Given the description of an element on the screen output the (x, y) to click on. 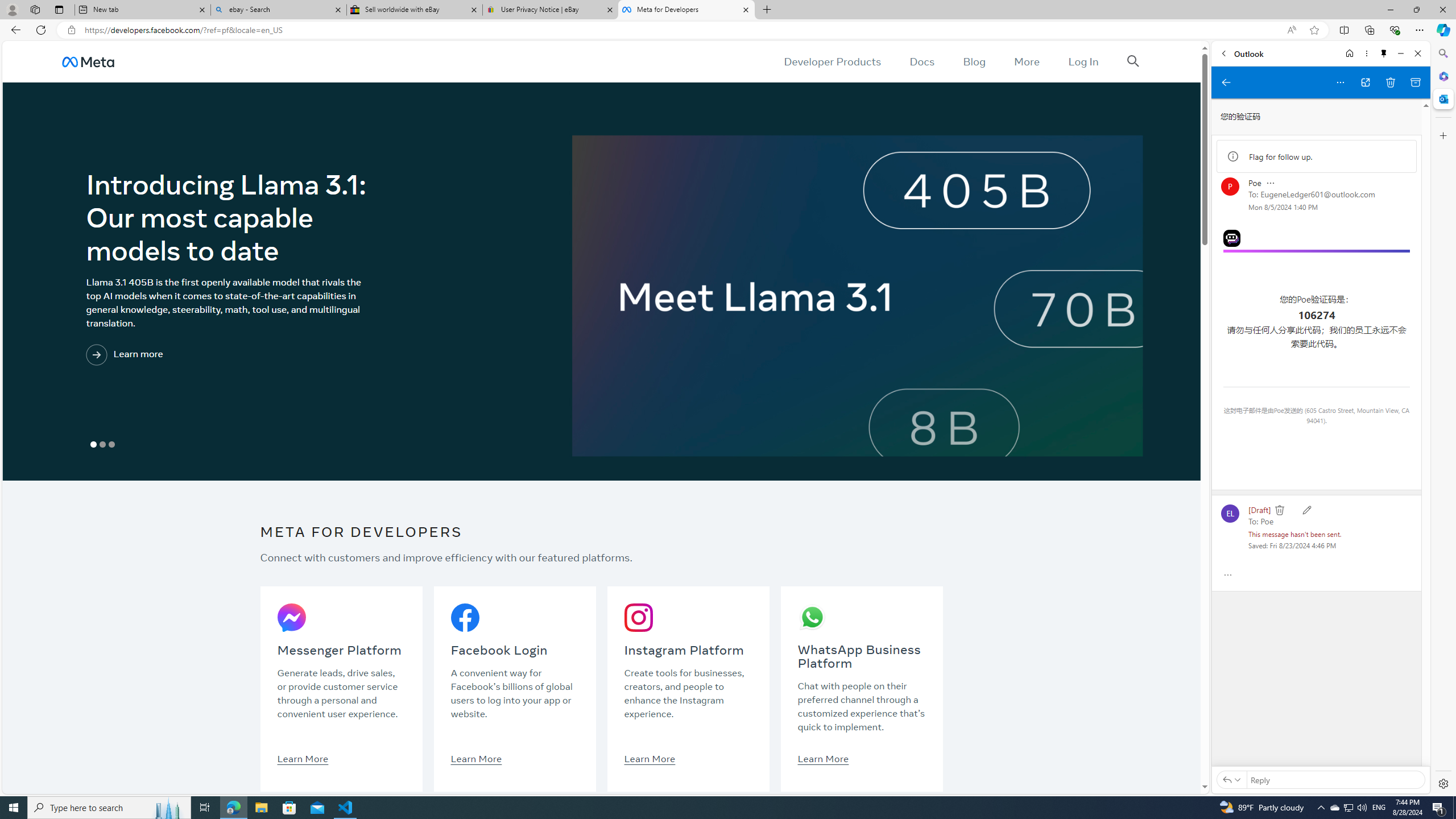
Sent by Poe. message expanded. double tap to collapse (1253, 182)
Edit (1306, 509)
Contact card for Eugene Ledger (1230, 512)
Log In (1083, 61)
Developer Products (832, 61)
Meta for Developers (685, 9)
